Given the description of an element on the screen output the (x, y) to click on. 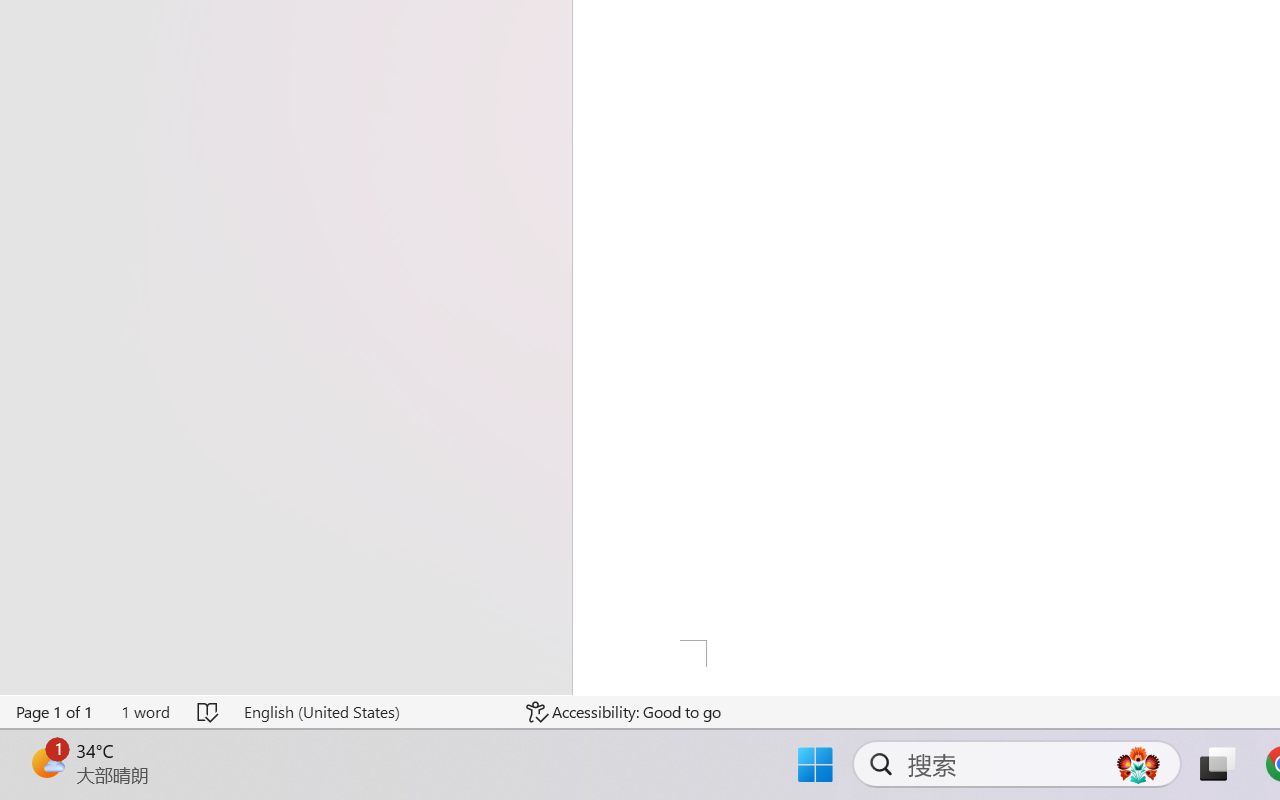
Language English (United States) (370, 712)
AutomationID: DynamicSearchBoxGleamImage (1138, 764)
AutomationID: BadgeAnchorLargeTicker (46, 762)
Word Count 1 word (145, 712)
Spelling and Grammar Check No Errors (208, 712)
Accessibility Checker Accessibility: Good to go (623, 712)
Page Number Page 1 of 1 (55, 712)
